Given the description of an element on the screen output the (x, y) to click on. 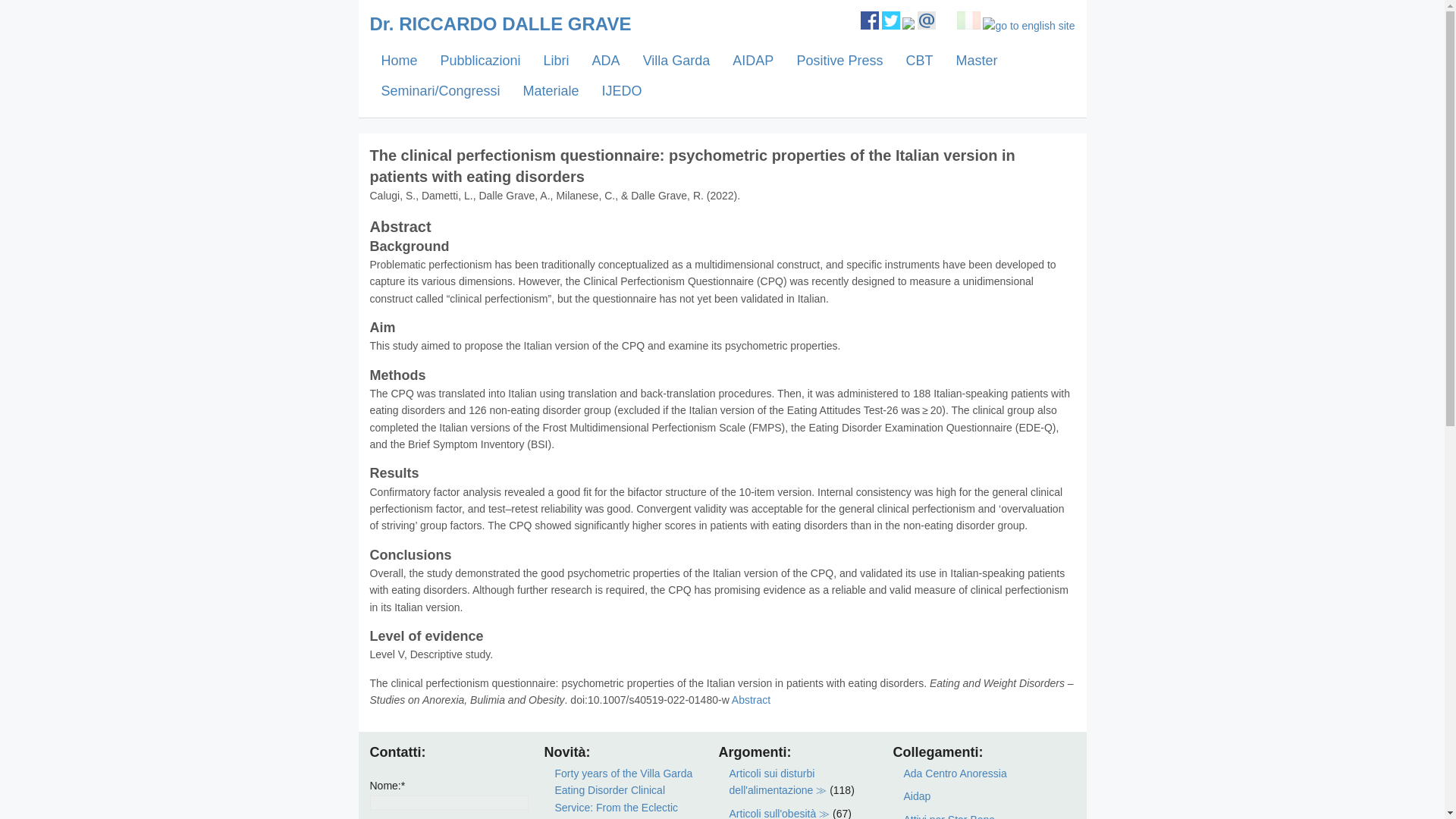
Master (976, 60)
Abstract (751, 699)
Positive Press (838, 60)
Home (399, 60)
Dr. RICCARDO DALLE GRAVE (500, 23)
AIDAP (752, 60)
go to english site (1028, 25)
Libri (556, 60)
Dr. RICCARDO DALLE GRAVE (500, 23)
